Given the description of an element on the screen output the (x, y) to click on. 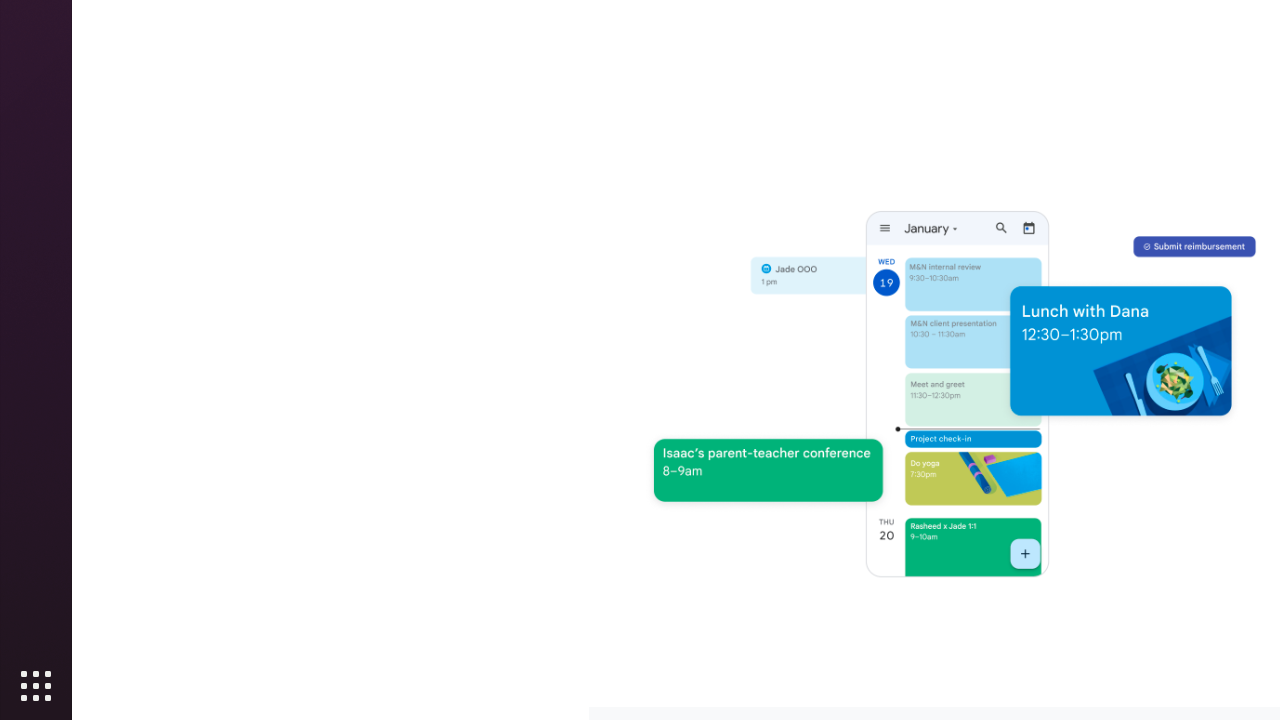
Show Applications Element type: toggle-button (36, 686)
